Given the description of an element on the screen output the (x, y) to click on. 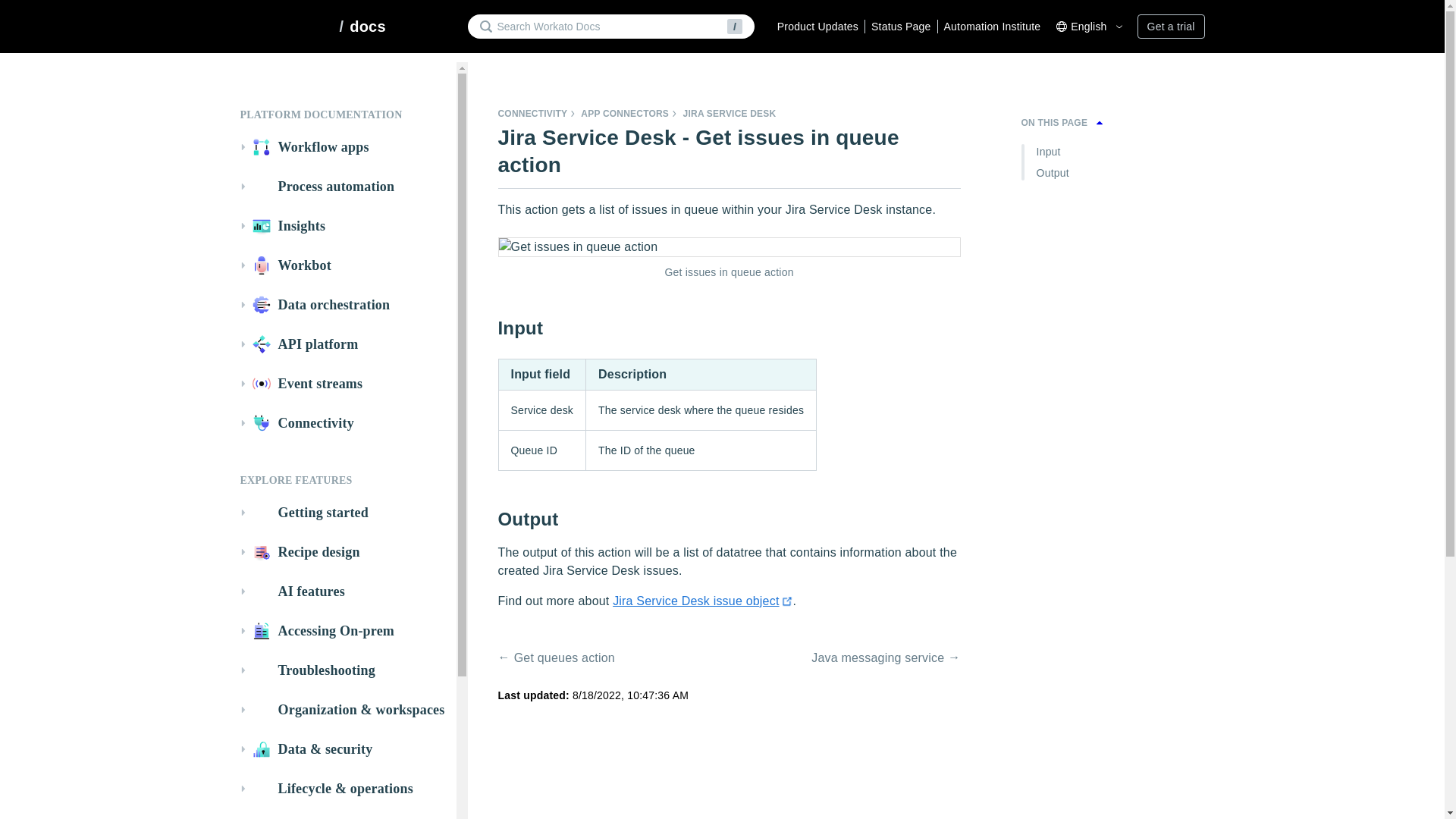
Connectivity (343, 422)
docs (367, 26)
Process automation (343, 186)
Workflow apps (343, 146)
APP CONNECTORS (624, 113)
Get a trial (1171, 26)
CONNECTIVITY (532, 113)
Connector SDK (343, 817)
Workbot (343, 265)
Insights (343, 225)
Recipe design (343, 551)
Automation Institute (989, 26)
Accessing On-prem (343, 630)
API platform (343, 344)
Data orchestration (343, 304)
